Given the description of an element on the screen output the (x, y) to click on. 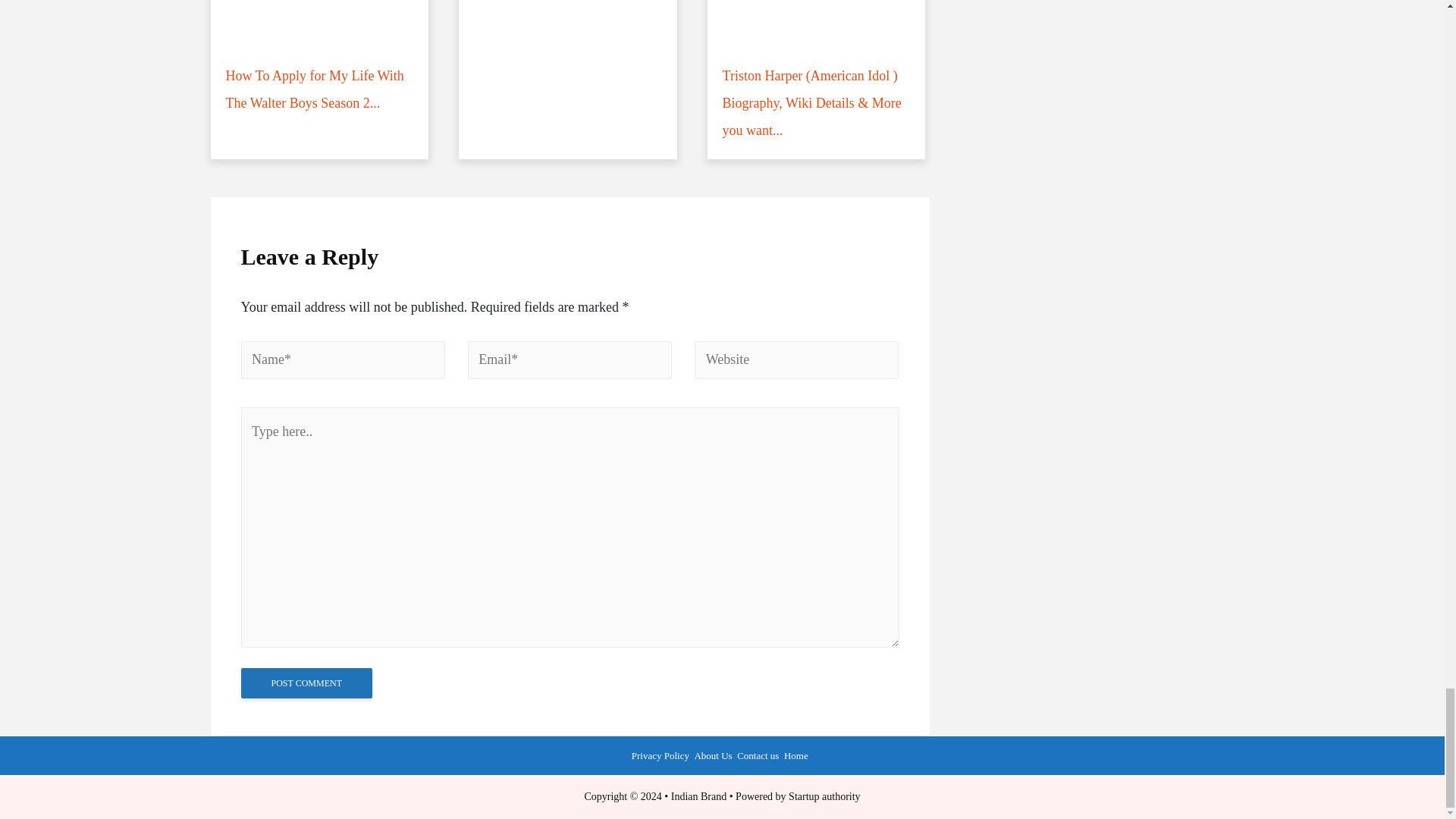
Post Comment (306, 683)
Post Comment (306, 683)
How To Apply for My Life With The Walter Boys Season 2... (320, 65)
